Given the description of an element on the screen output the (x, y) to click on. 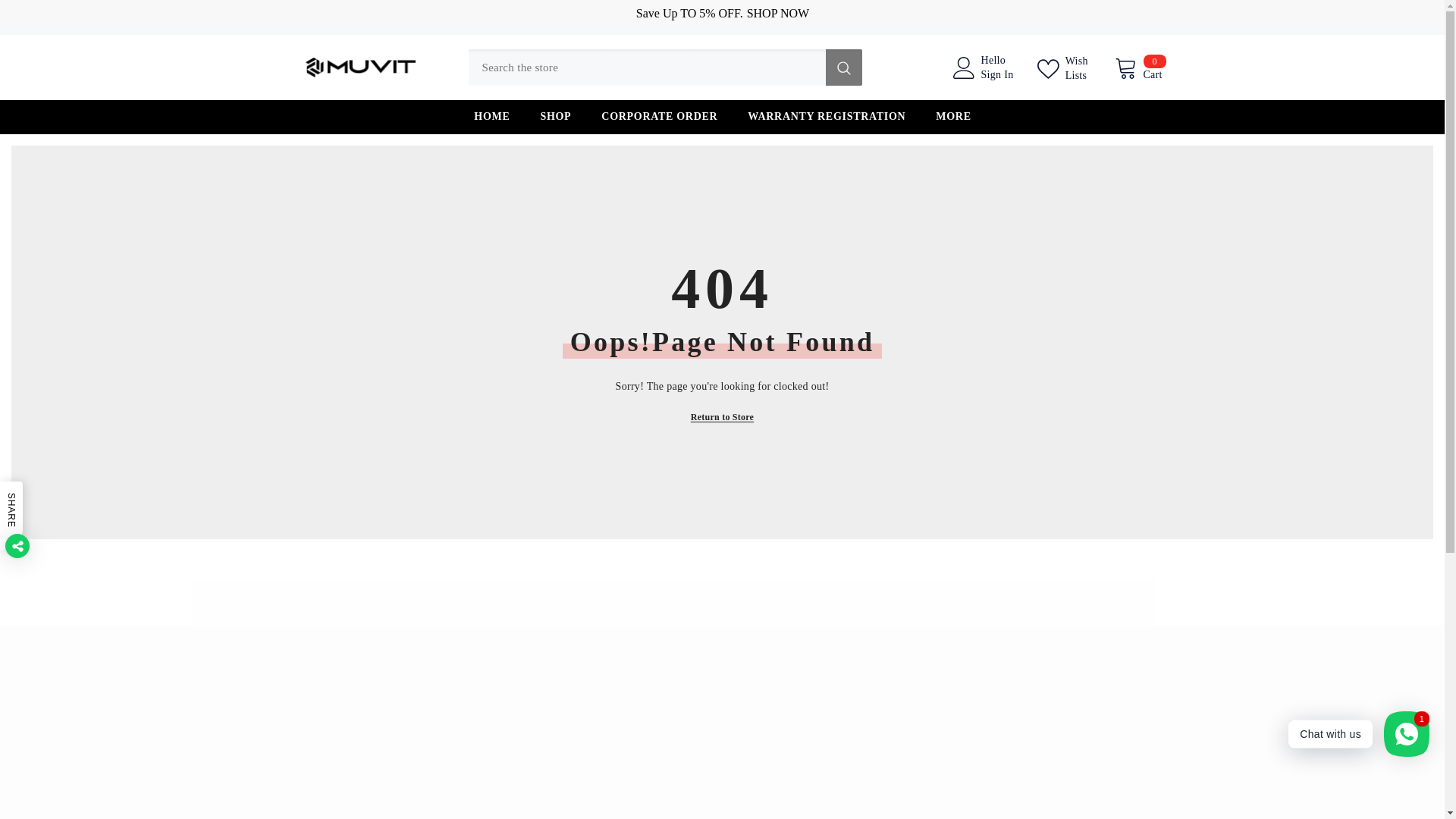
Free Returns In-Store (1024, 615)
SHOP NOW (777, 13)
Secure Payment (721, 742)
